Given the description of an element on the screen output the (x, y) to click on. 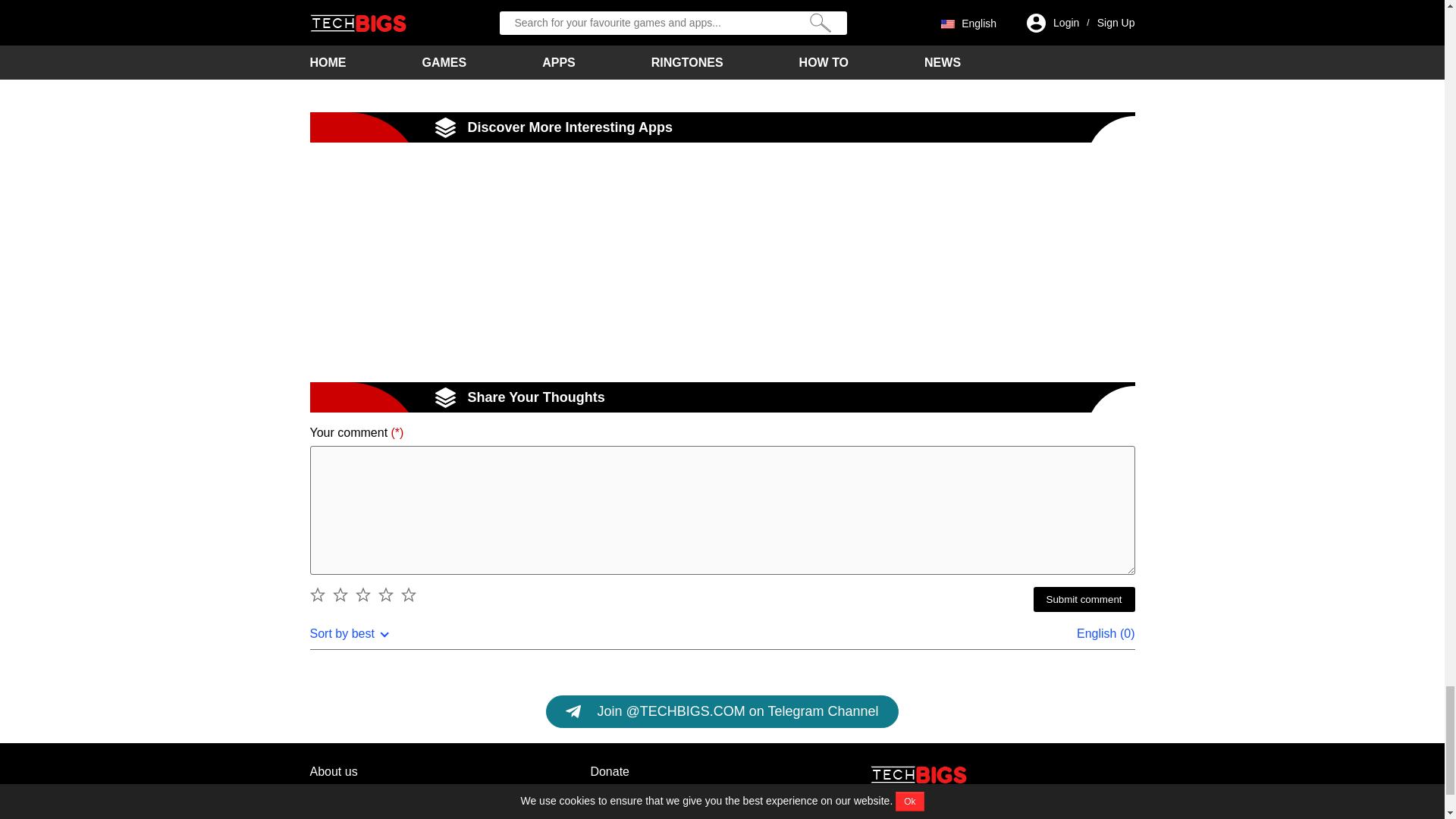
Terms of Use (625, 799)
Donate (608, 771)
About us (332, 771)
Privacy Policy (346, 799)
